Given the description of an element on the screen output the (x, y) to click on. 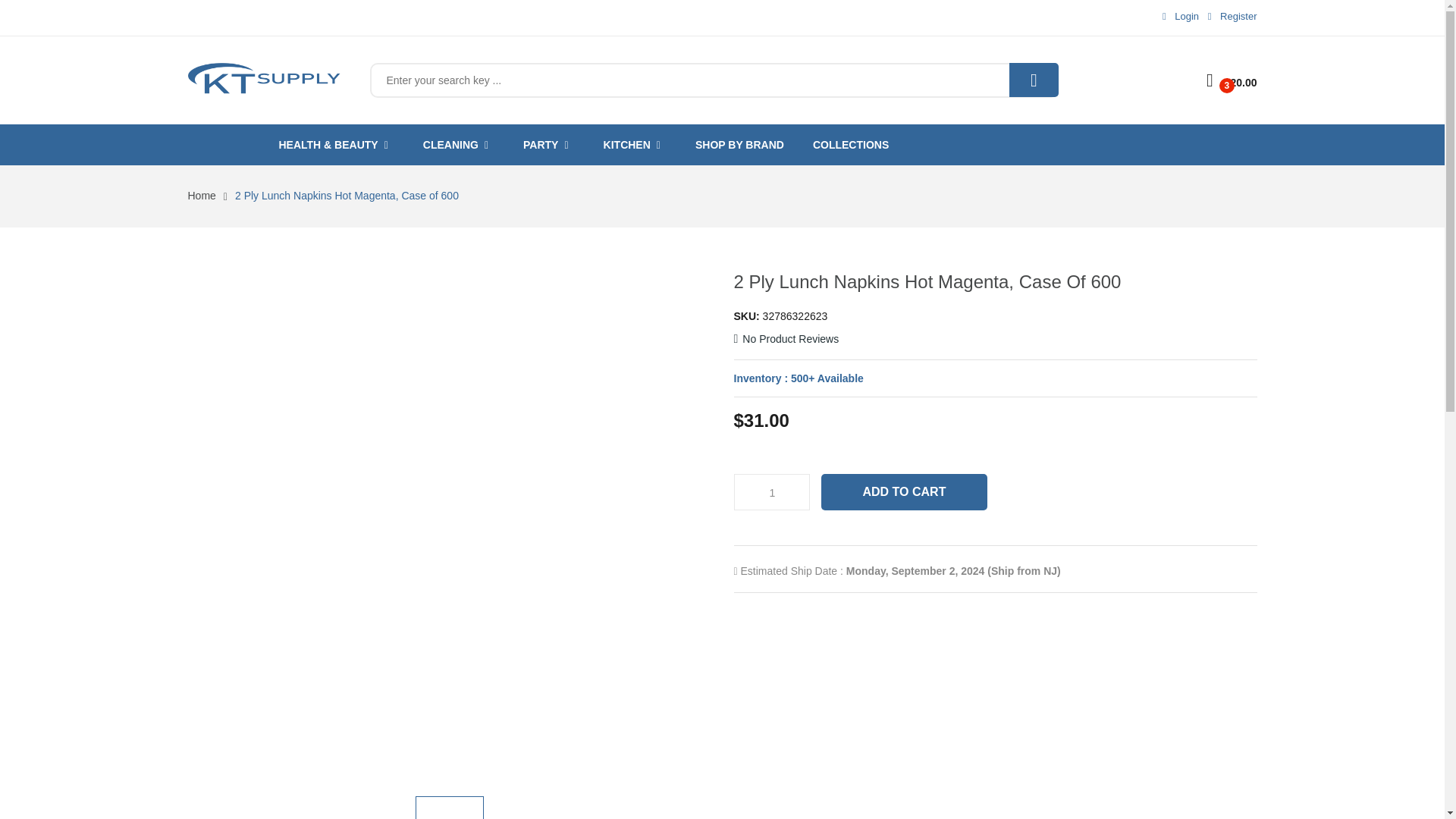
Login (1177, 16)
1 (771, 493)
Register (1229, 16)
